Given the description of an element on the screen output the (x, y) to click on. 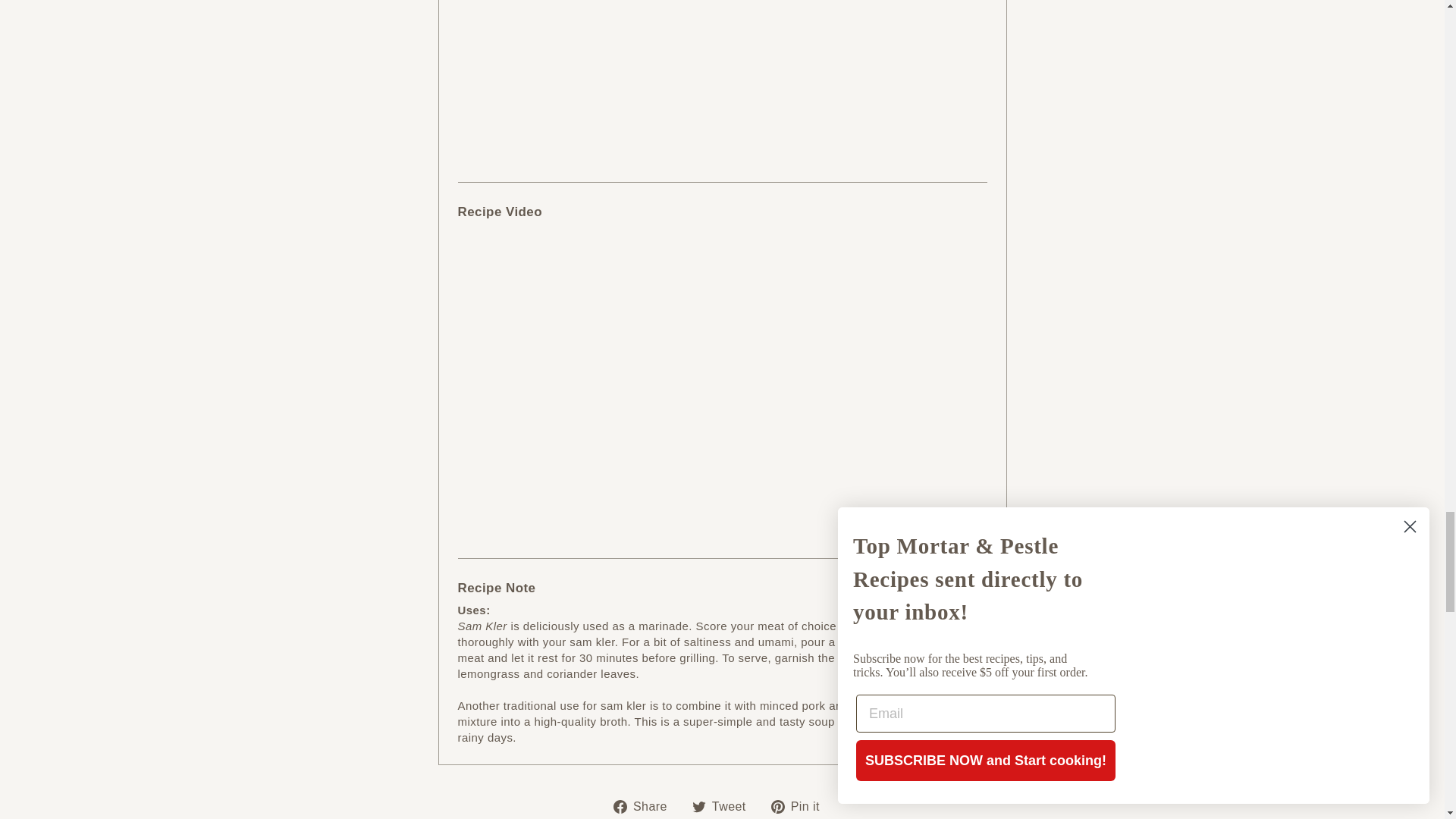
Pin on Pinterest (645, 805)
Share on Facebook (801, 805)
Tweet on Twitter (725, 805)
